Given the description of an element on the screen output the (x, y) to click on. 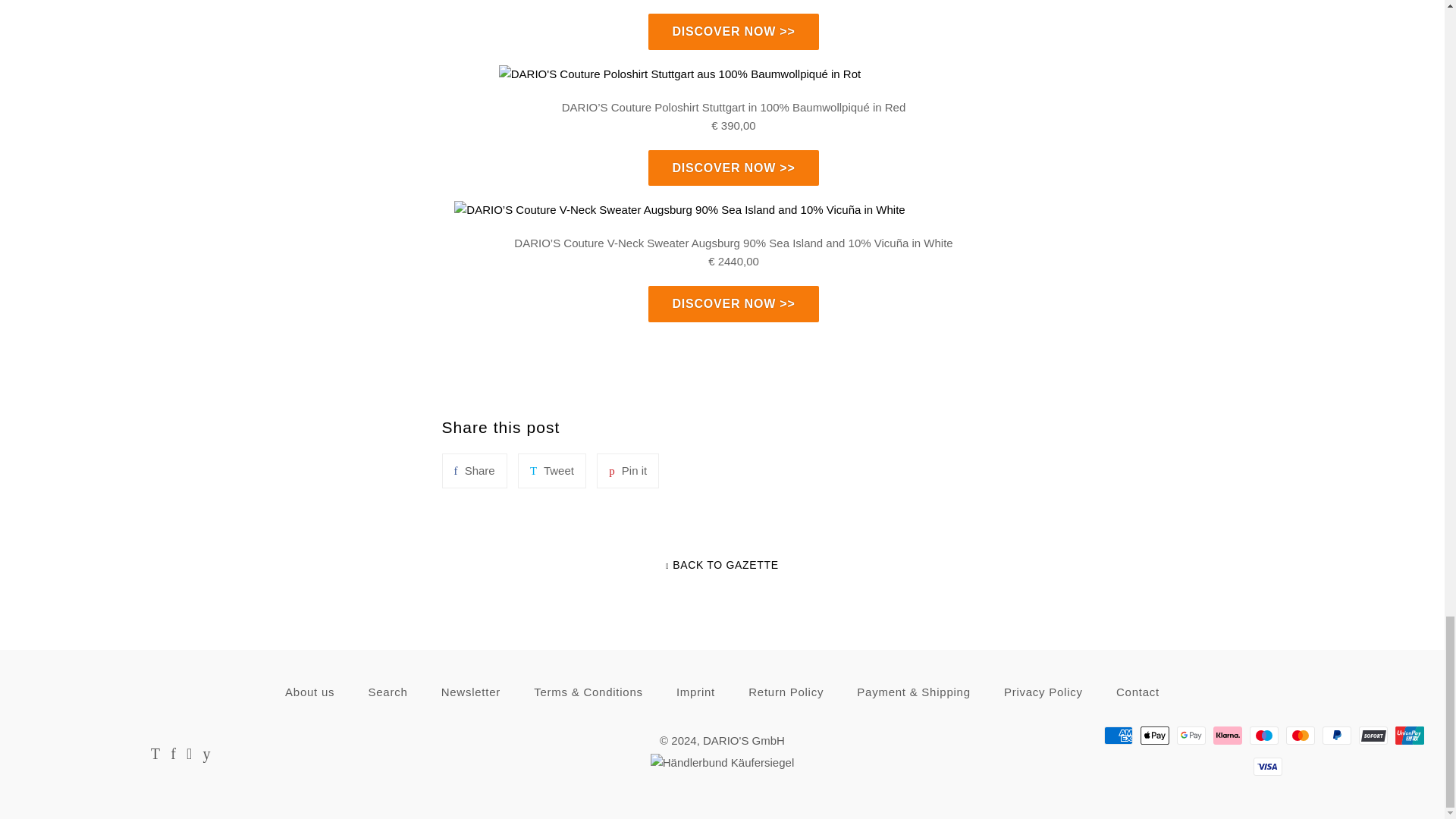
Maestro (1263, 735)
Tweet on Twitter (552, 470)
SOFORT (1372, 735)
Apple Pay (1154, 735)
Pin on Pinterest (627, 470)
Google Pay (1190, 735)
Share on Facebook (473, 470)
Union Pay (1408, 735)
American Express (1117, 735)
Visa (1267, 766)
Mastercard (1299, 735)
PayPal (1336, 735)
Klarna (1226, 735)
